Given the description of an element on the screen output the (x, y) to click on. 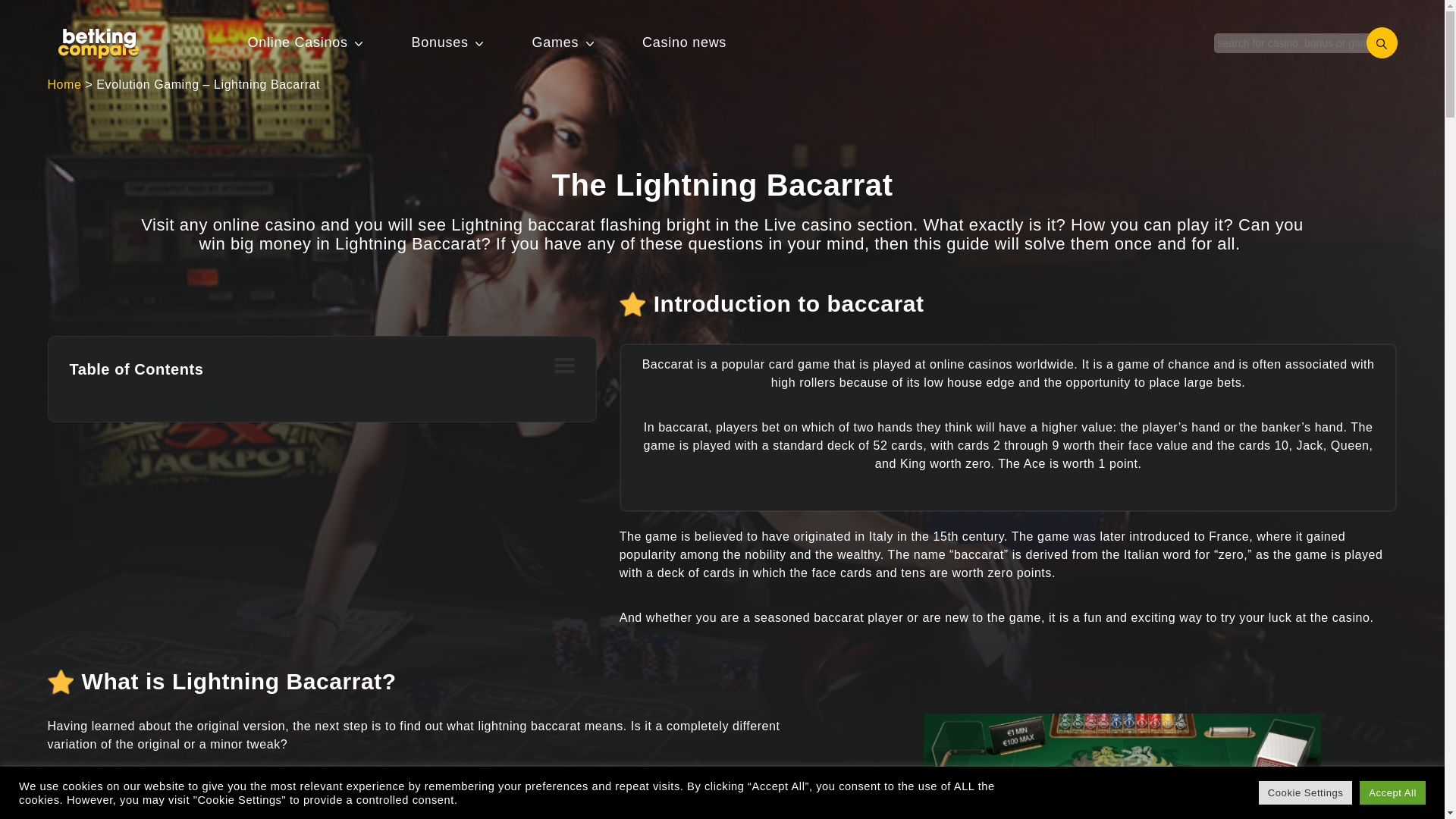
Bonuses (440, 42)
Online Casinos (297, 42)
Games (555, 42)
